Given the description of an element on the screen output the (x, y) to click on. 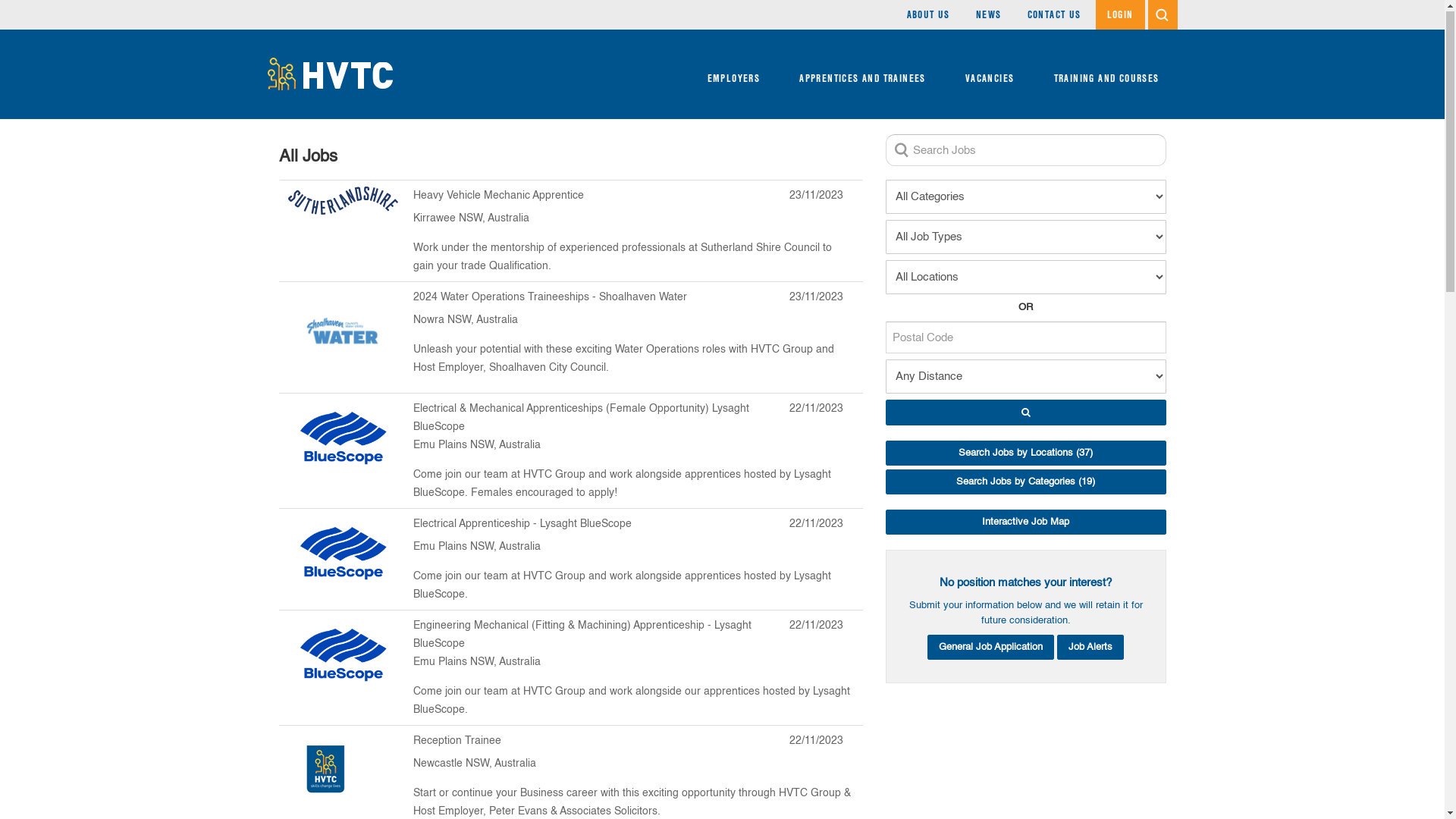
Job Alerts Element type: text (1090, 647)
VACANCIES Element type: text (989, 74)
Search Jobs by Locations (37) Element type: text (1025, 453)
LOGIN Element type: text (1119, 15)
NEWS Element type: text (988, 15)
ABOUT US Element type: text (928, 15)
Hunter Valley Training Company Element type: text (329, 74)
General Job Application Element type: text (990, 647)
APPRENTICES AND TRAINEES Element type: text (862, 74)
Search Jobs by Categories (19) Element type: text (1025, 482)
EMPLOYERS Element type: text (733, 74)
Interactive Job Map Element type: text (1025, 522)
TRAINING AND COURSES Element type: text (1106, 74)
CONTACT US Element type: text (1054, 15)
